Given the description of an element on the screen output the (x, y) to click on. 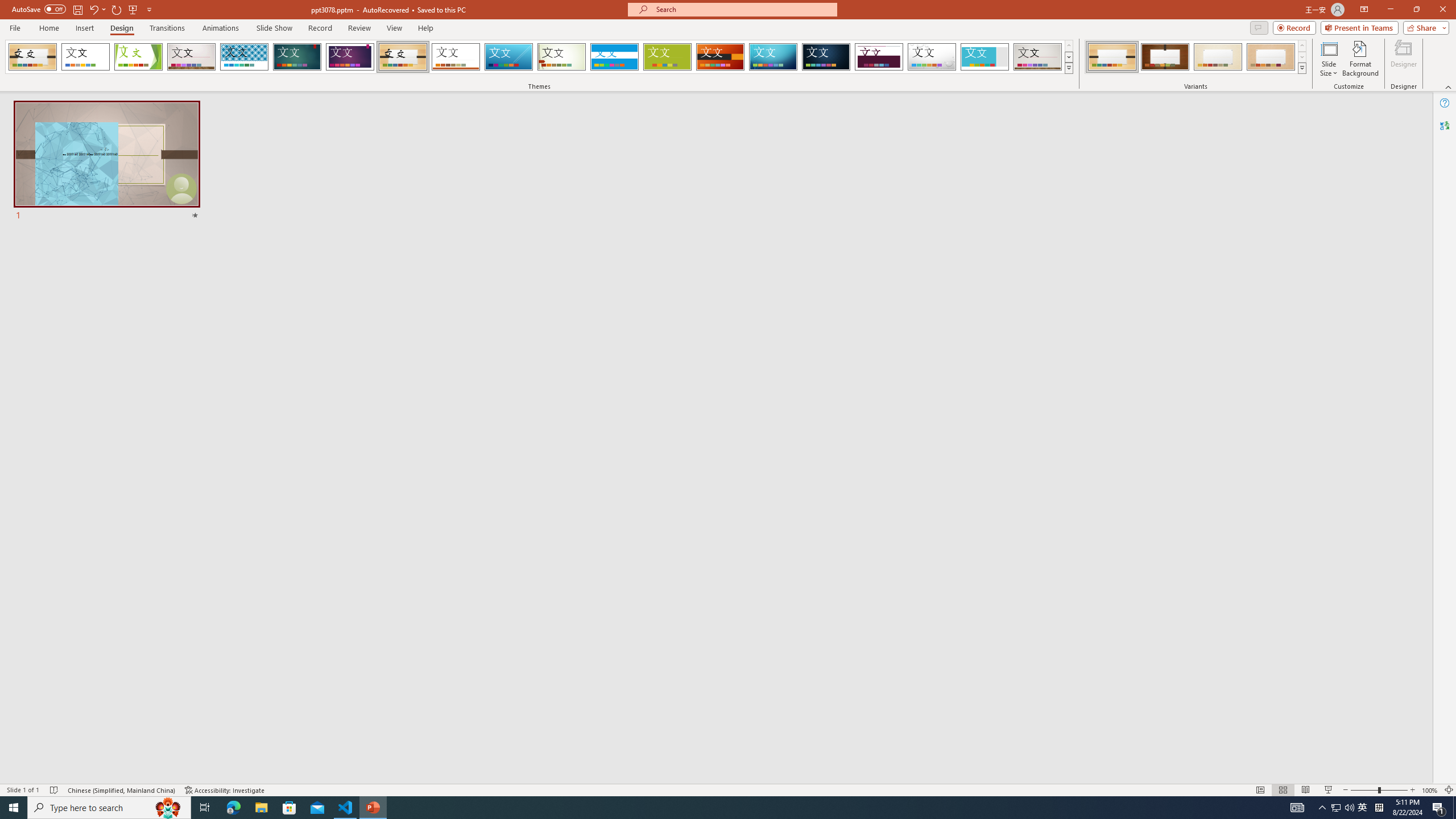
AutomationID: ThemeVariantsGallery (1195, 56)
Damask (826, 56)
Facet (138, 56)
Banded (614, 56)
Organic Variant 3 (1217, 56)
